Given the description of an element on the screen output the (x, y) to click on. 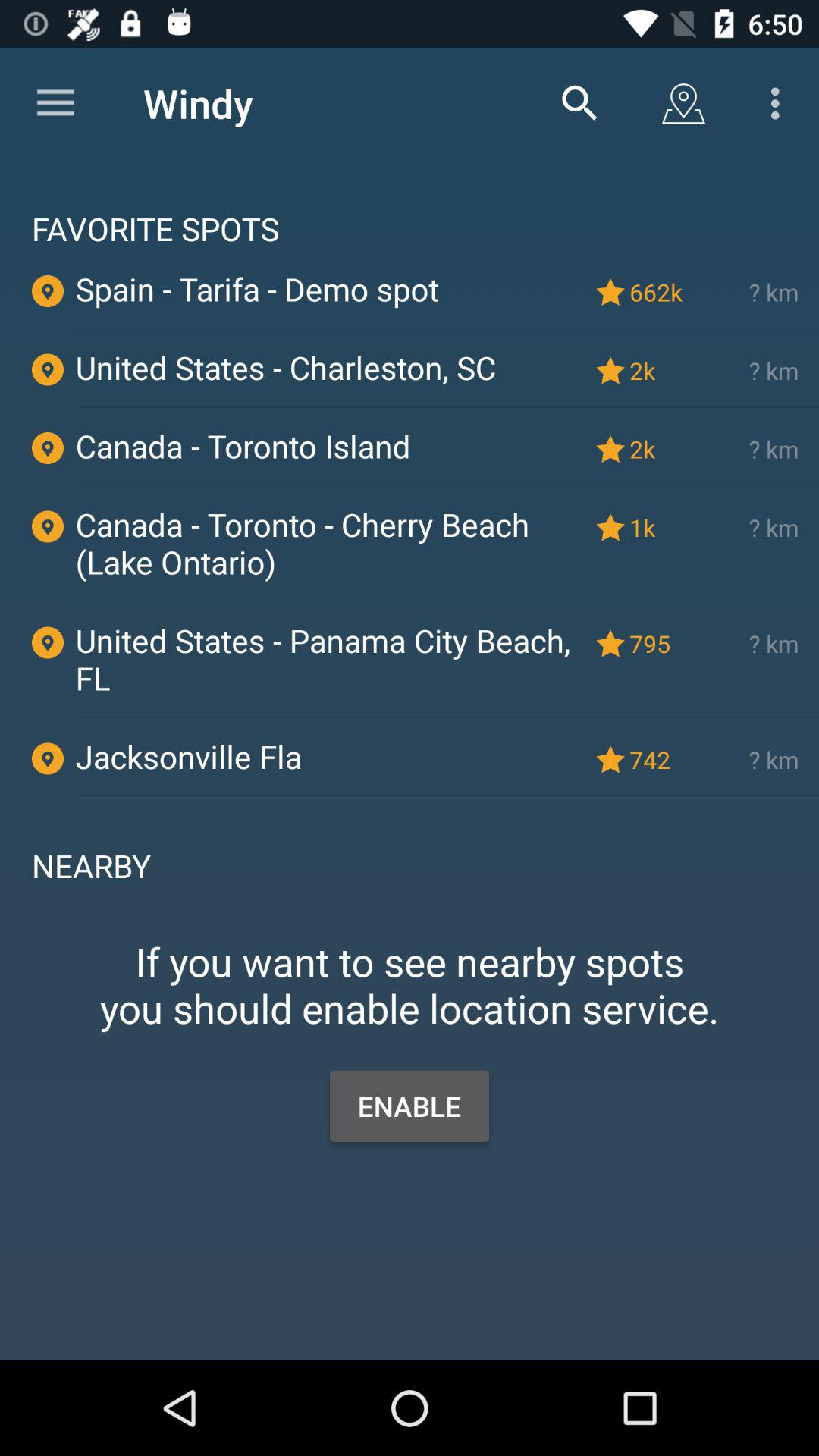
select icon below favorite spots item (659, 291)
